Given the description of an element on the screen output the (x, y) to click on. 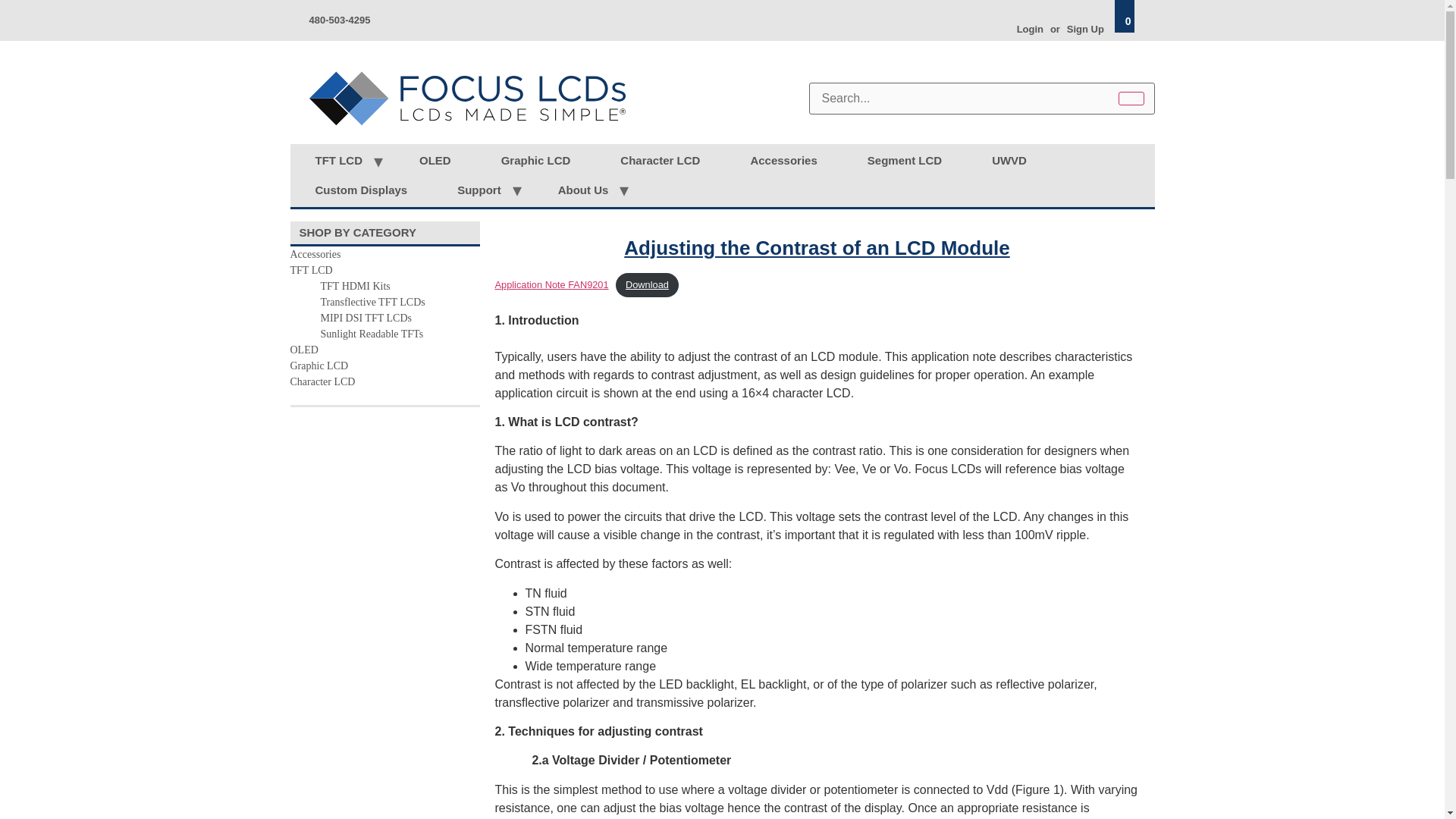
Accessories (783, 161)
Custom Displays (360, 190)
480-503-4295 (339, 20)
TFT LCD (337, 161)
UWVD (1008, 161)
OLED (435, 161)
Sign Up (1085, 29)
About Us (583, 190)
Graphic LCD (535, 161)
Segment LCD (904, 161)
